Given the description of an element on the screen output the (x, y) to click on. 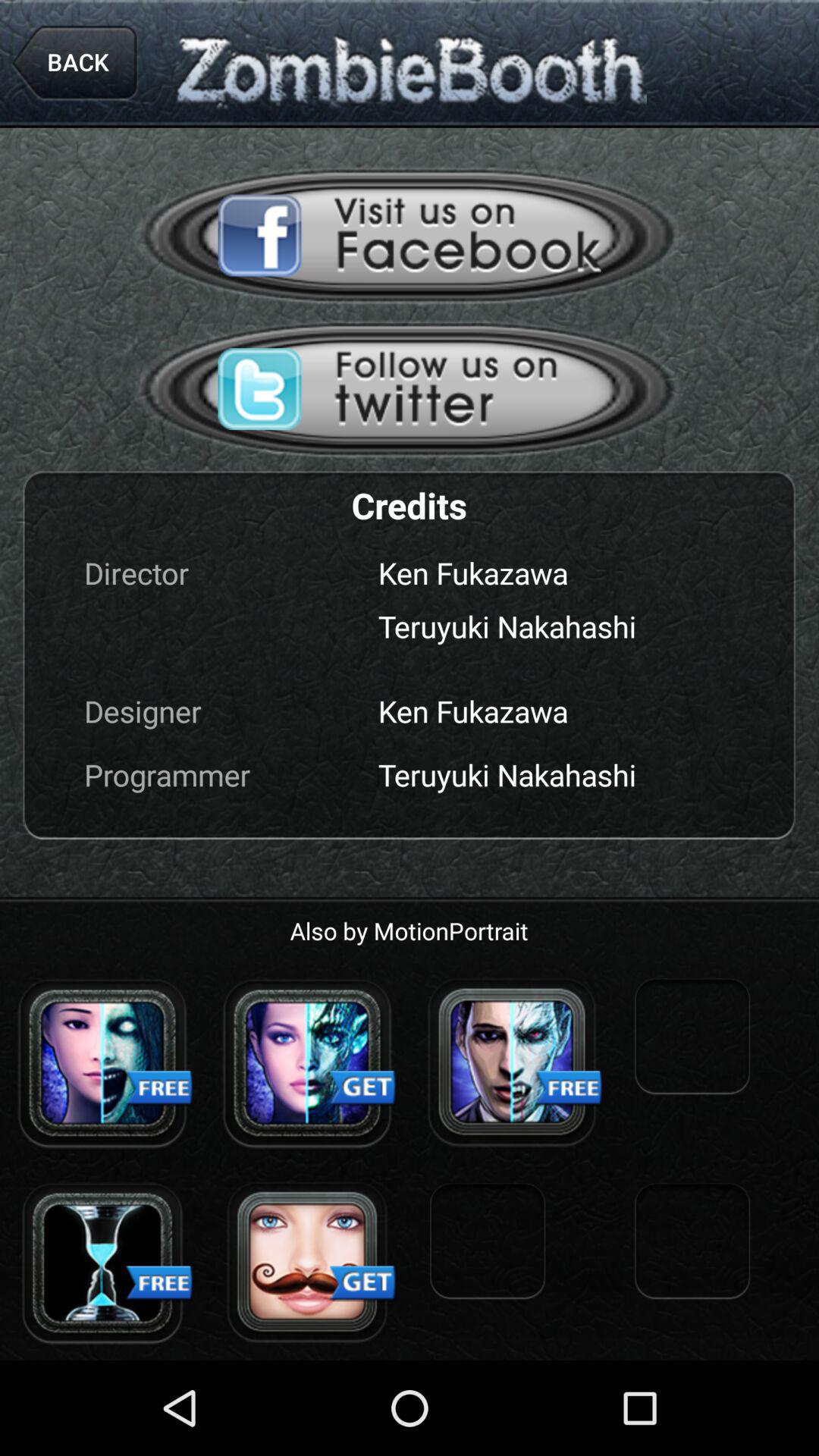
hit the follow us on twitter button (409, 388)
